Given the description of an element on the screen output the (x, y) to click on. 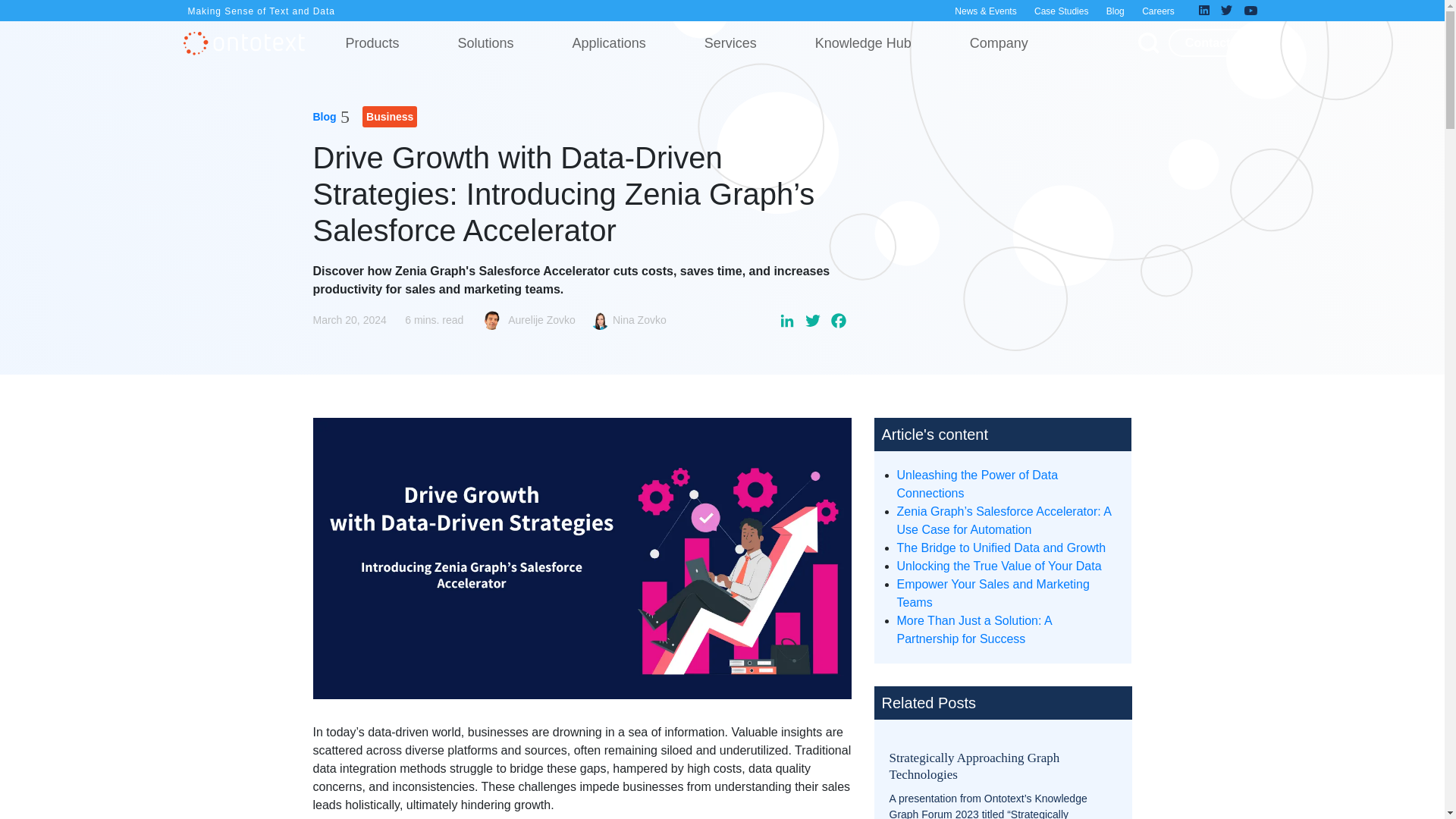
Knowledge Hub (862, 42)
Case Studies (1060, 12)
LinkedIn (786, 323)
Careers (1157, 12)
Services (729, 42)
Facebook (837, 323)
Blog (1115, 12)
Applications (609, 42)
Products (371, 42)
Company (999, 42)
